Given the description of an element on the screen output the (x, y) to click on. 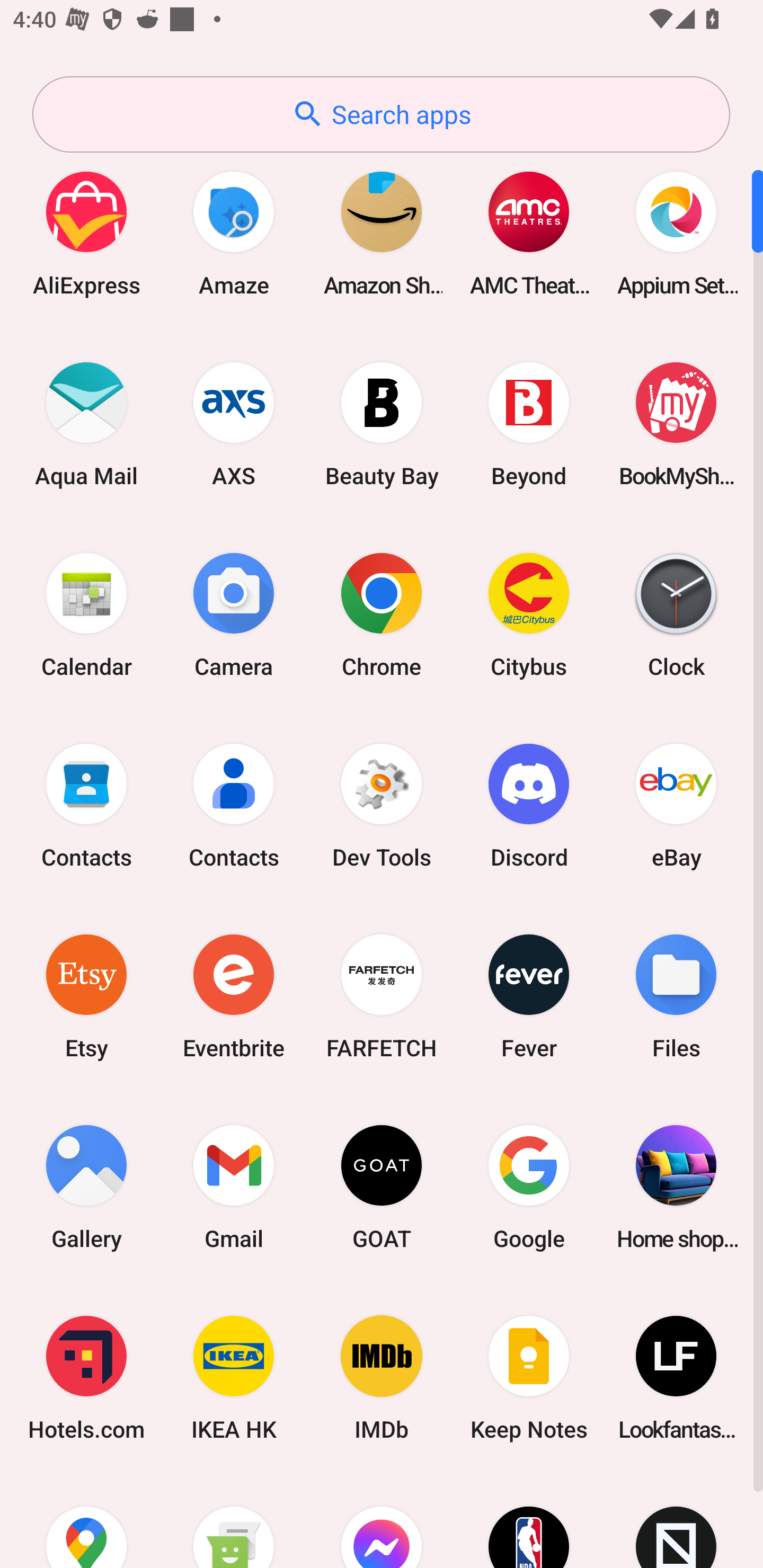
  Search apps (381, 114)
AliExpress (86, 233)
Amaze (233, 233)
Amazon Shopping (381, 233)
AMC Theatres (528, 233)
Appium Settings (676, 233)
Aqua Mail (86, 424)
AXS (233, 424)
Beauty Bay (381, 424)
Beyond (528, 424)
BookMyShow (676, 424)
Calendar (86, 614)
Camera (233, 614)
Chrome (381, 614)
Citybus (528, 614)
Clock (676, 614)
Contacts (86, 805)
Contacts (233, 805)
Dev Tools (381, 805)
Discord (528, 805)
eBay (676, 805)
Etsy (86, 996)
Eventbrite (233, 996)
FARFETCH (381, 996)
Fever (528, 996)
Files (676, 996)
Gallery (86, 1186)
Gmail (233, 1186)
GOAT (381, 1186)
Google (528, 1186)
Home shopping (676, 1186)
Hotels.com (86, 1377)
IKEA HK (233, 1377)
IMDb (381, 1377)
Keep Notes (528, 1377)
Lookfantastic (676, 1377)
